Given the description of an element on the screen output the (x, y) to click on. 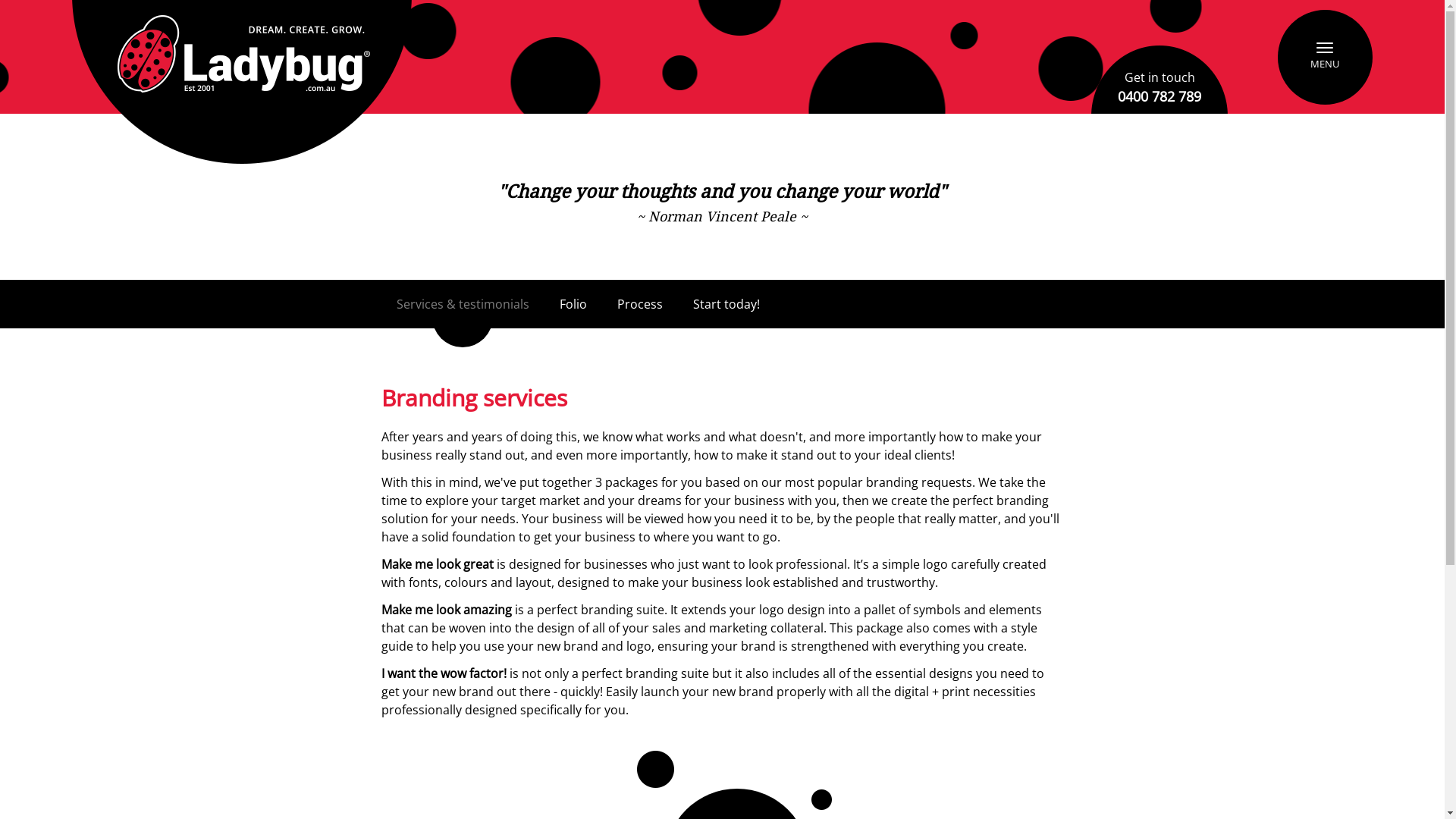
Ladybug - Dream Create Grow Element type: hover (241, 81)
Process Element type: text (639, 303)
Start today! Element type: text (726, 303)
Services & testimonials Element type: text (461, 303)
Folio Element type: text (573, 303)
Toggle navigation Element type: text (1324, 56)
